Given the description of an element on the screen output the (x, y) to click on. 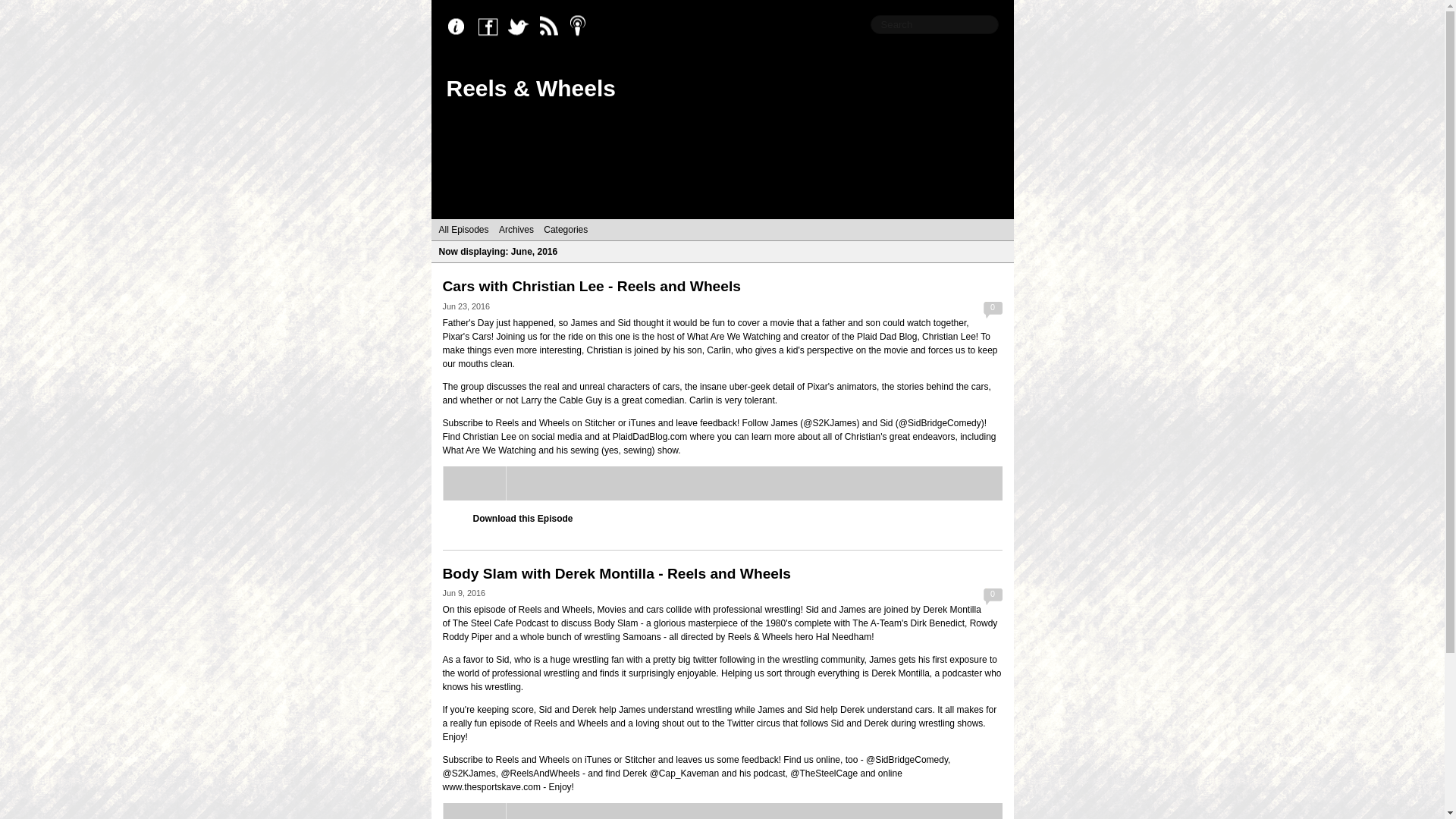
Libsyn Player (722, 483)
Twitter (521, 26)
RSS Feed (552, 26)
Subscribe in Apple Podcasts (581, 26)
Libsyn Player (722, 811)
Facebook (491, 26)
